Given the description of an element on the screen output the (x, y) to click on. 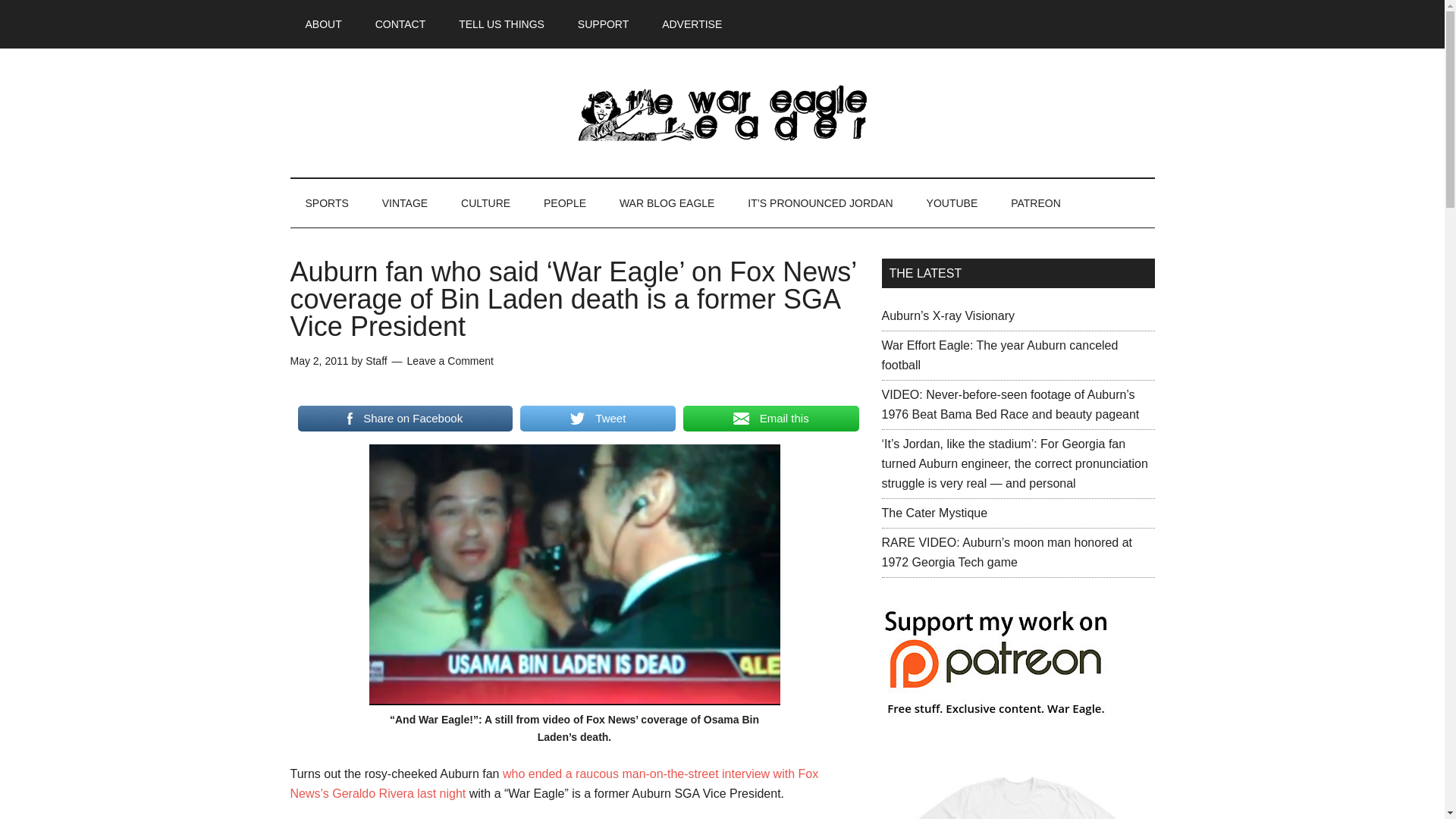
PEOPLE (564, 203)
Leave a Comment (450, 360)
Share on Facebook (404, 418)
CULTURE (485, 203)
Picture 54 (573, 574)
VINTAGE (404, 203)
SUPPORT (602, 24)
Staff (376, 360)
ADVERTISE (691, 24)
TELL US THINGS (501, 24)
